Given the description of an element on the screen output the (x, y) to click on. 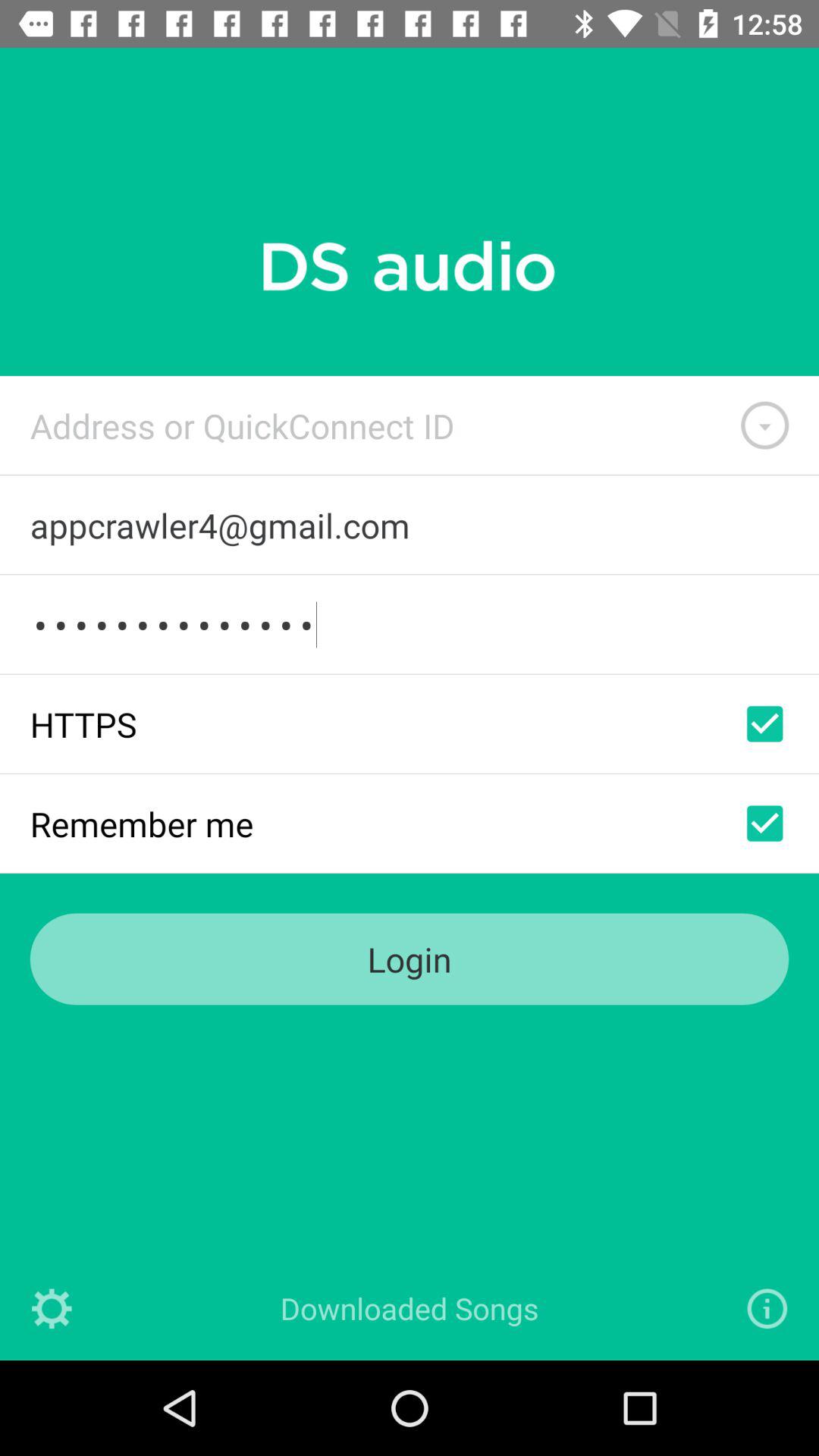
describe the app (767, 1308)
